Given the description of an element on the screen output the (x, y) to click on. 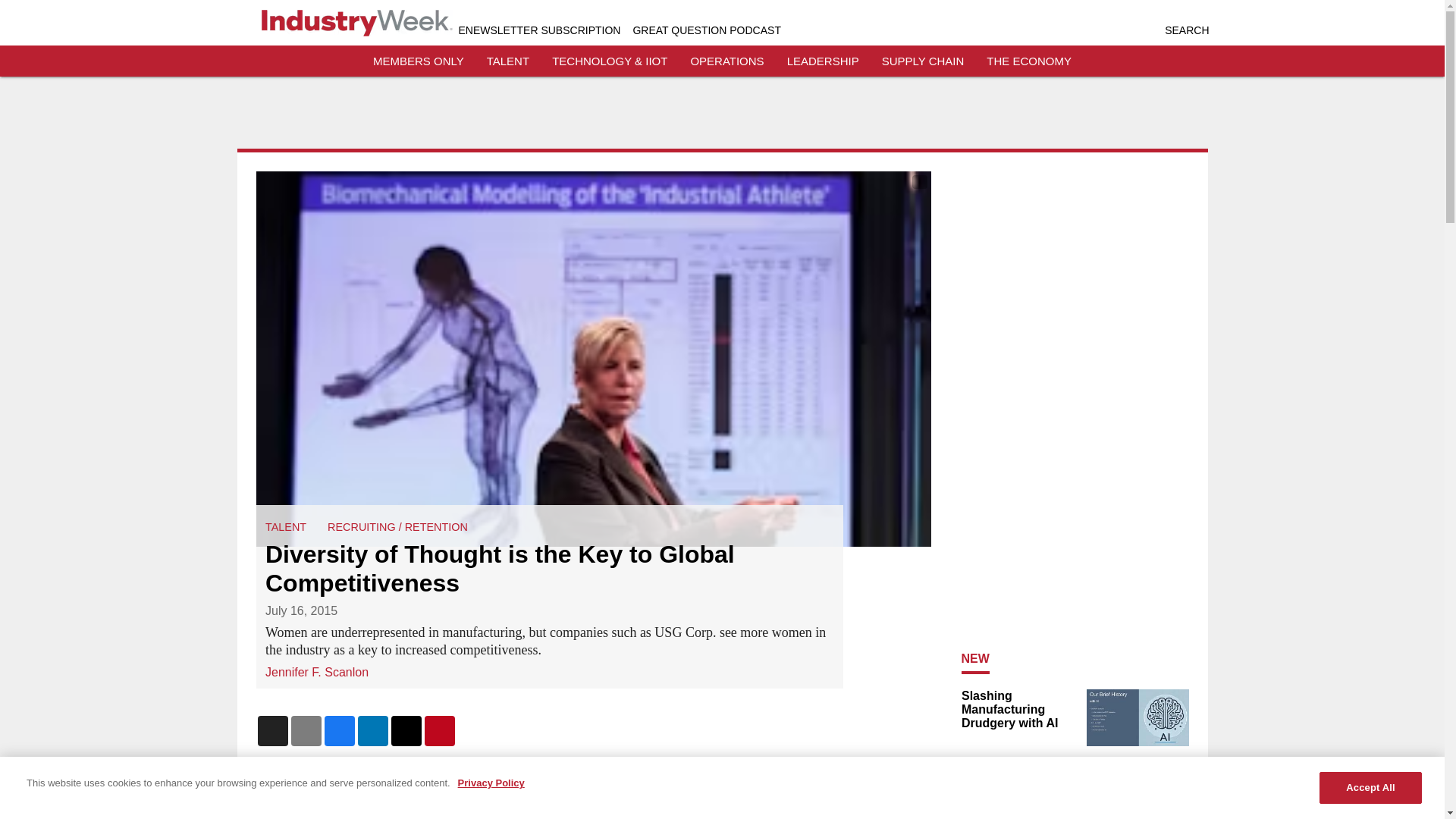
MEMBERS ONLY (418, 60)
THE ECONOMY (1029, 60)
Jennifer F. Scanlon (316, 671)
ENEWSLETTER SUBSCRIPTION (539, 30)
SEARCH (1186, 30)
SUPPLY CHAIN (922, 60)
Slashing Manufacturing Drudgery with AI (1019, 709)
LEADERSHIP (823, 60)
GREAT QUESTION PODCAST (705, 30)
